Given the description of an element on the screen output the (x, y) to click on. 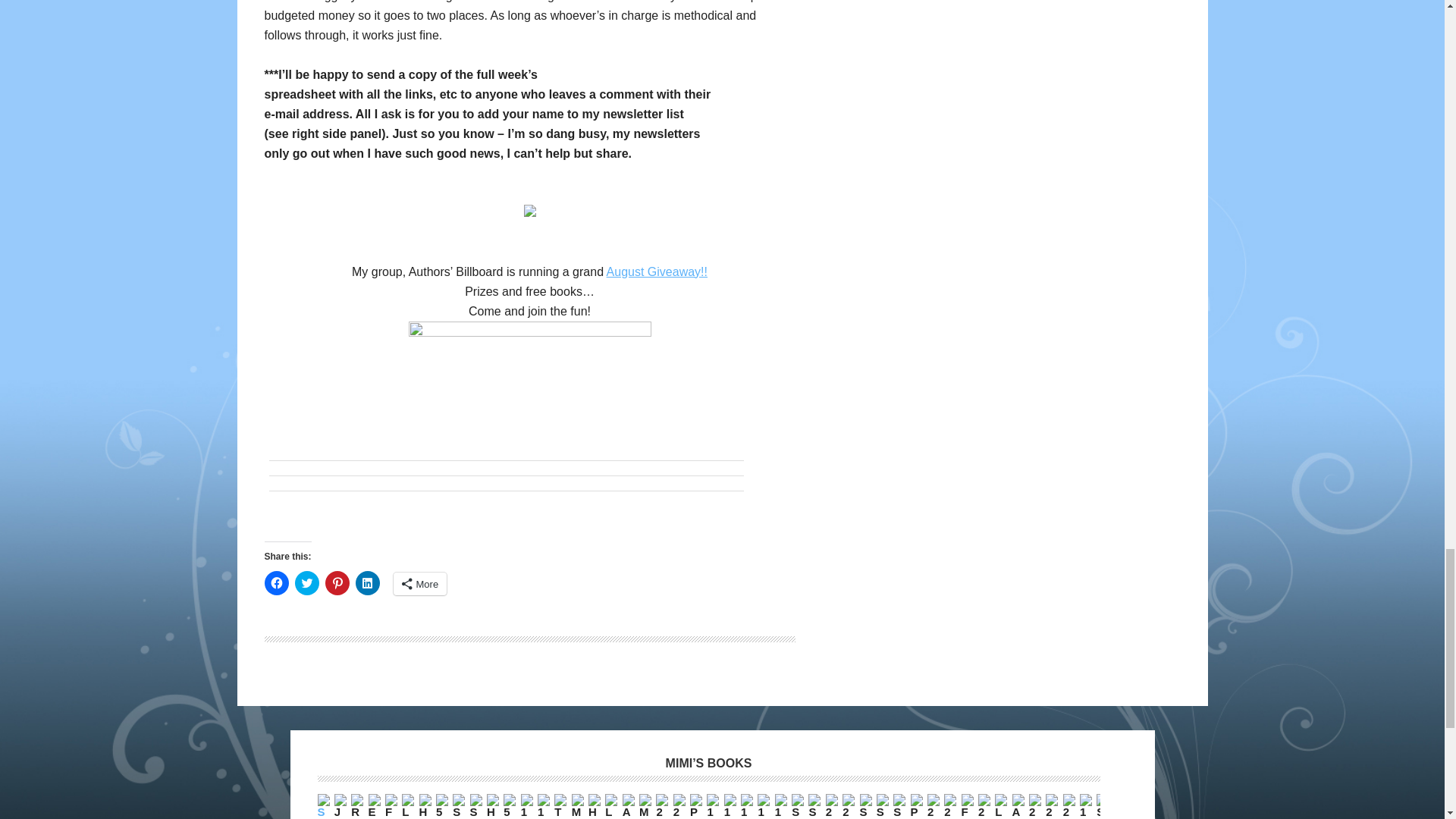
August Giveaway!! (657, 271)
Click to share on Pinterest (336, 582)
Click to share on Twitter (306, 582)
More (419, 583)
Click to share on Facebook (275, 582)
Click to share on LinkedIn (366, 582)
